Given the description of an element on the screen output the (x, y) to click on. 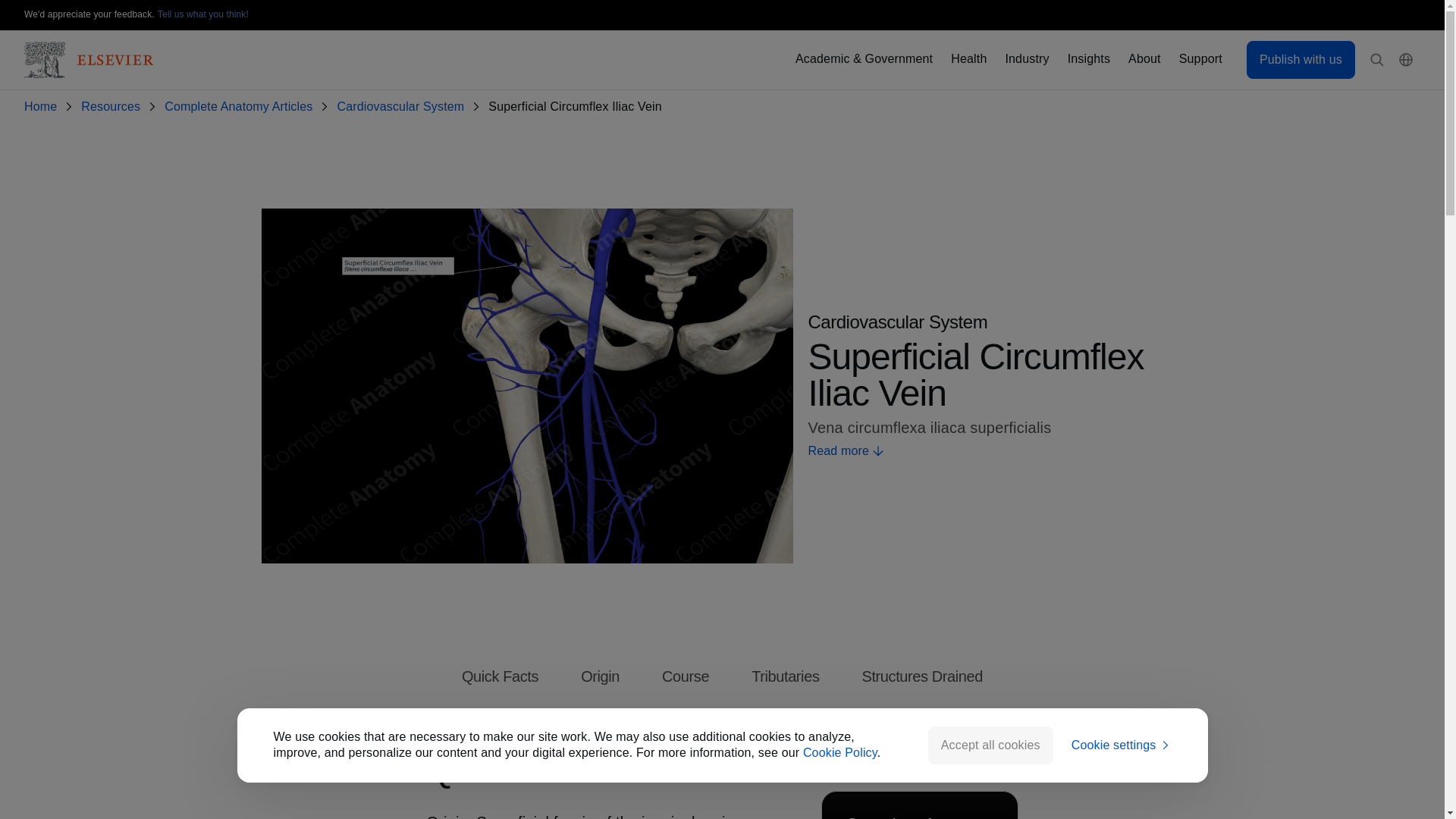
Origin (600, 676)
Cookie Policy (840, 752)
Course (685, 676)
Cookie settings (1121, 745)
Open Search (1376, 59)
Insights (1088, 59)
Publish with us (1300, 59)
Health (968, 59)
About (1144, 59)
Structures Drained (921, 676)
Tributaries (784, 676)
Resources (114, 107)
Read more (995, 451)
Cardiovascular System (403, 107)
Home (43, 107)
